Given the description of an element on the screen output the (x, y) to click on. 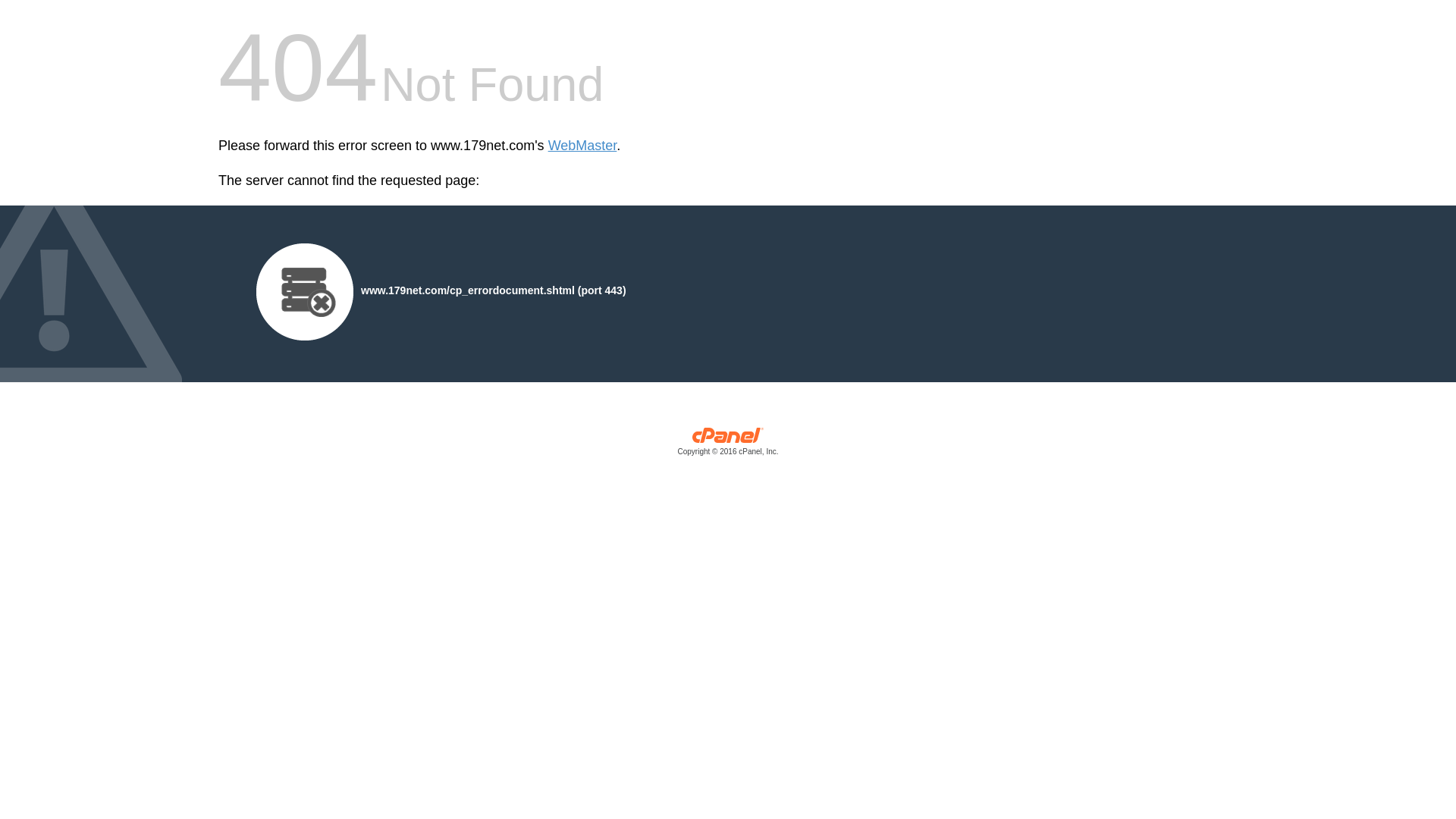
WebMaster Element type: text (582, 145)
